Given the description of an element on the screen output the (x, y) to click on. 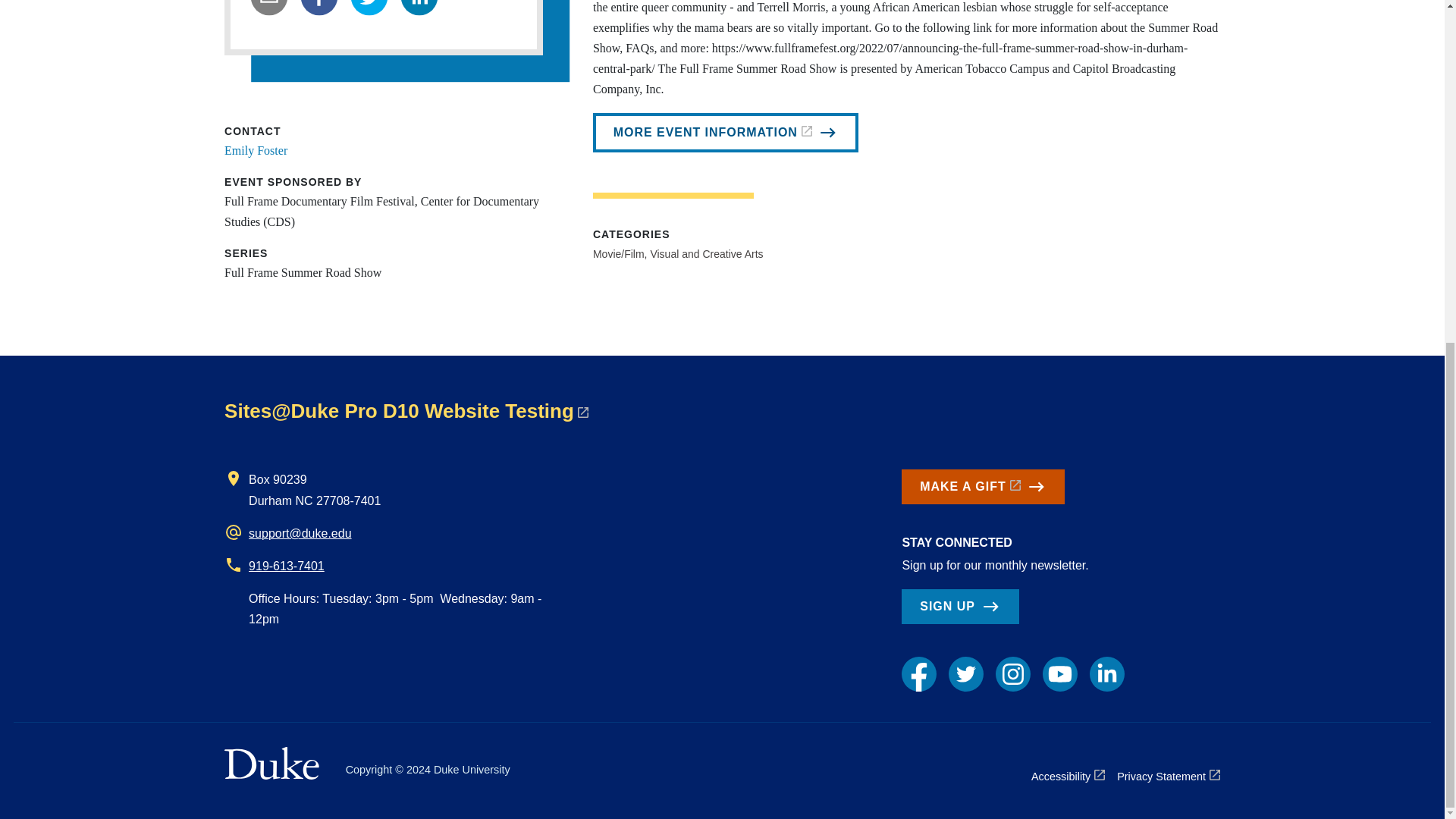
Instagram link (1012, 673)
Twitter link (966, 673)
919-613-7401 (286, 565)
LinkedIn link (1106, 673)
YouTube link (1059, 673)
Privacy Statement (1168, 776)
SIGN UP (959, 606)
MAKE A GIFT (982, 486)
Emily Foster (255, 150)
Facebook link (918, 673)
